Given the description of an element on the screen output the (x, y) to click on. 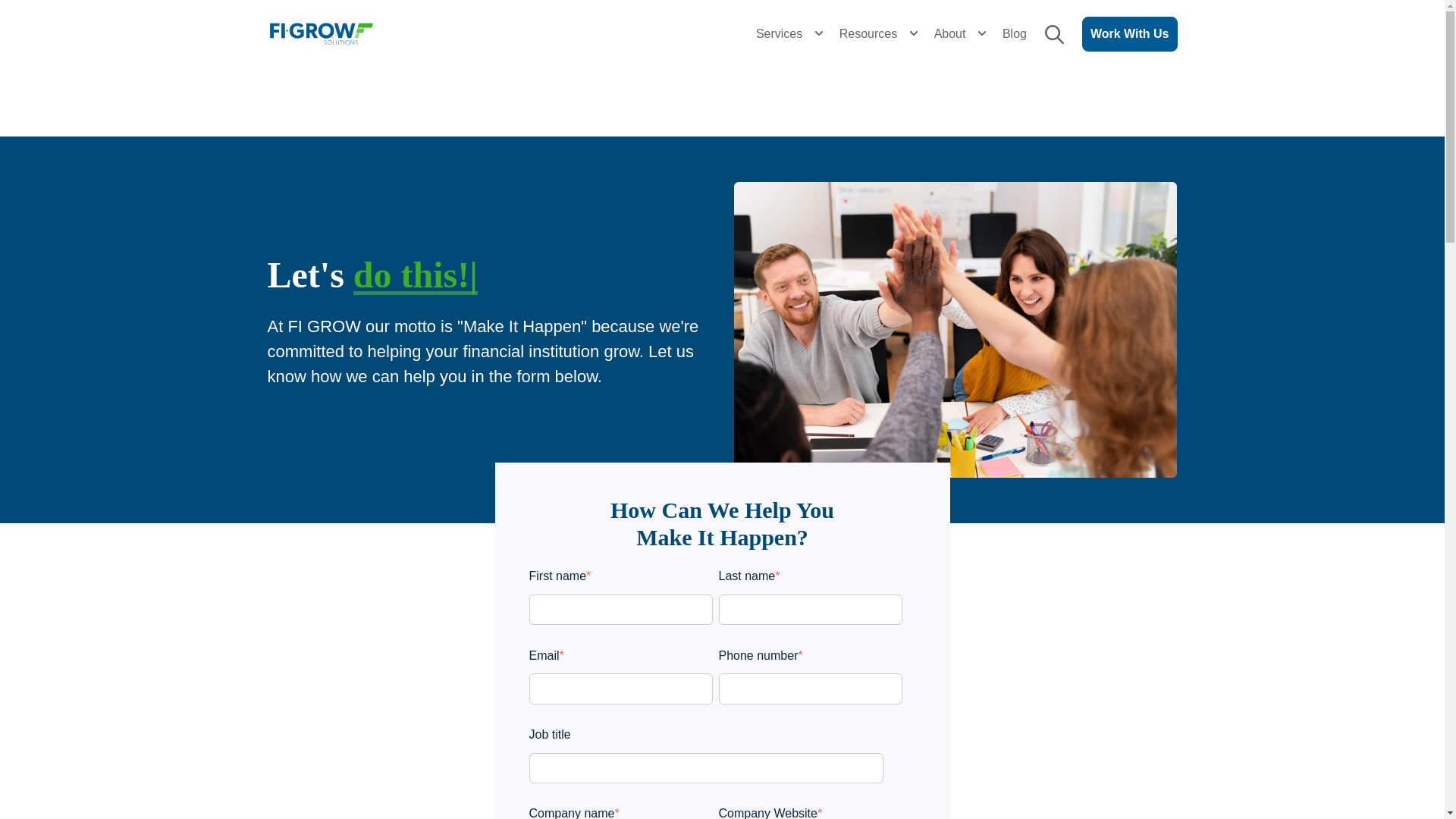
Show submenu for About (981, 33)
Blog (1014, 33)
Show submenu for Services (818, 33)
Services (778, 33)
Show submenu for Resources (913, 33)
Resources (867, 33)
About (949, 33)
